Given the description of an element on the screen output the (x, y) to click on. 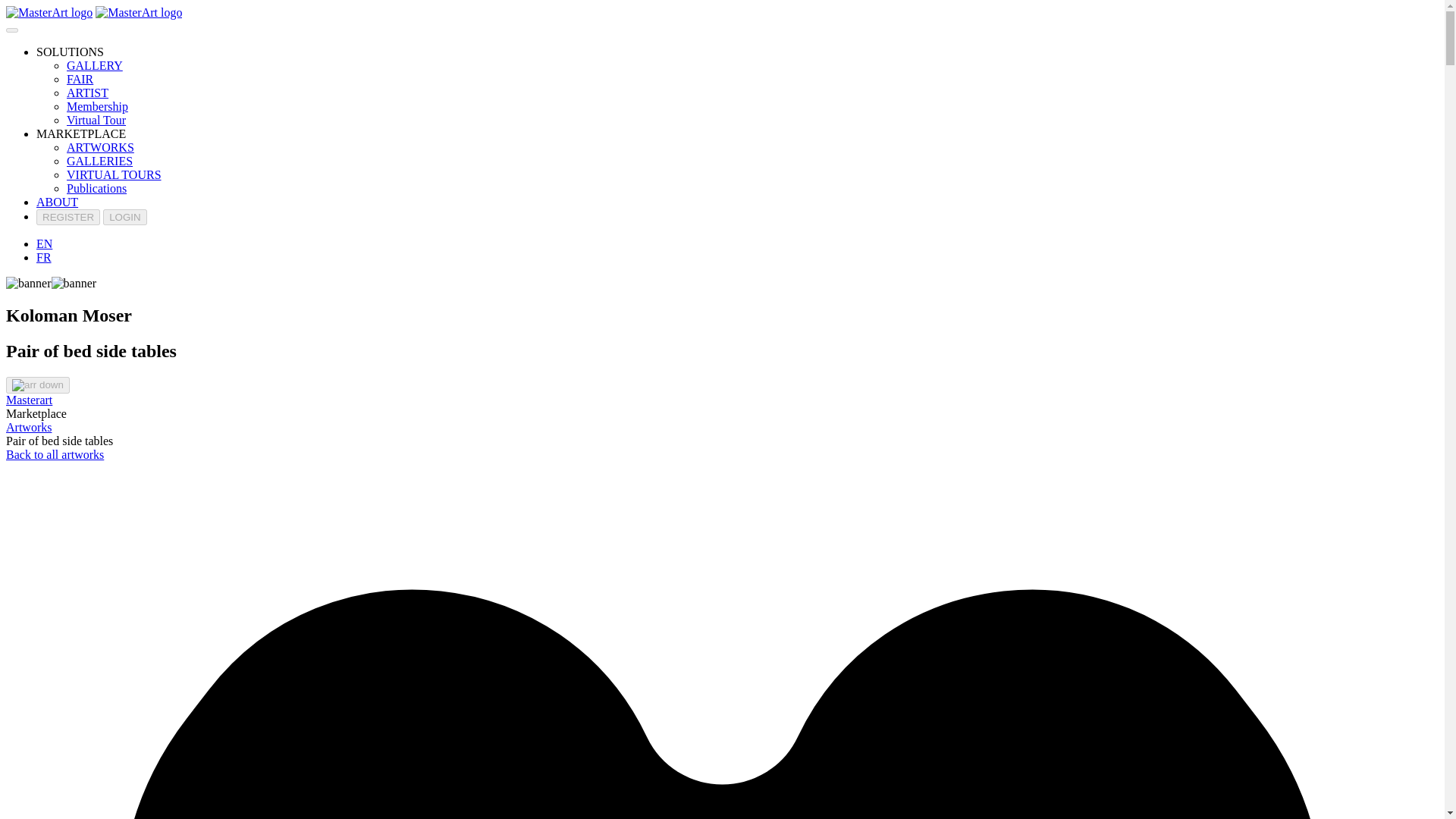
FAIR (79, 78)
EN (44, 243)
Back to all artworks (54, 454)
MARKETPLACE (80, 133)
ARTIST (86, 92)
Artworks (27, 427)
Virtual Tour (95, 119)
ARTWORKS (99, 146)
FR (43, 256)
SOLUTIONS (69, 51)
